Given the description of an element on the screen output the (x, y) to click on. 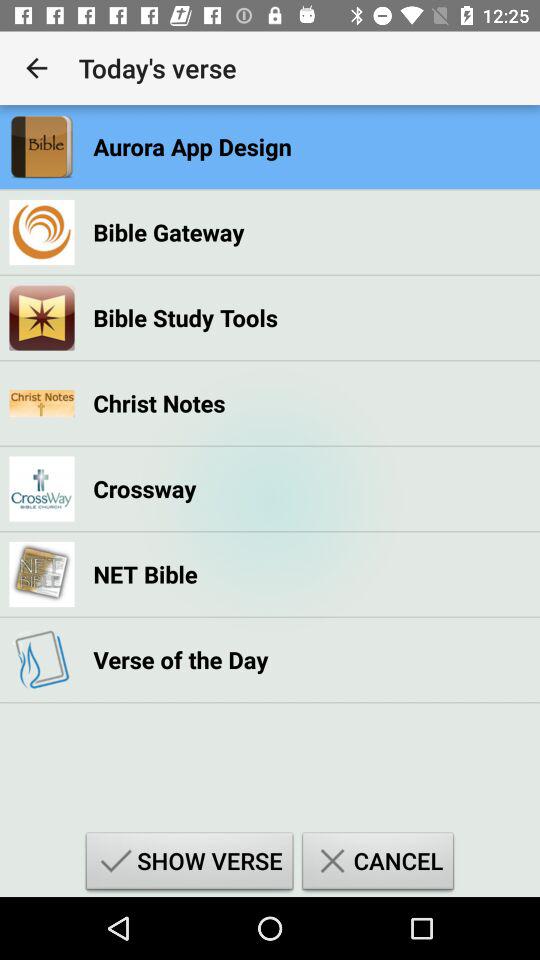
choose icon to the left of today's verse app (36, 68)
